Given the description of an element on the screen output the (x, y) to click on. 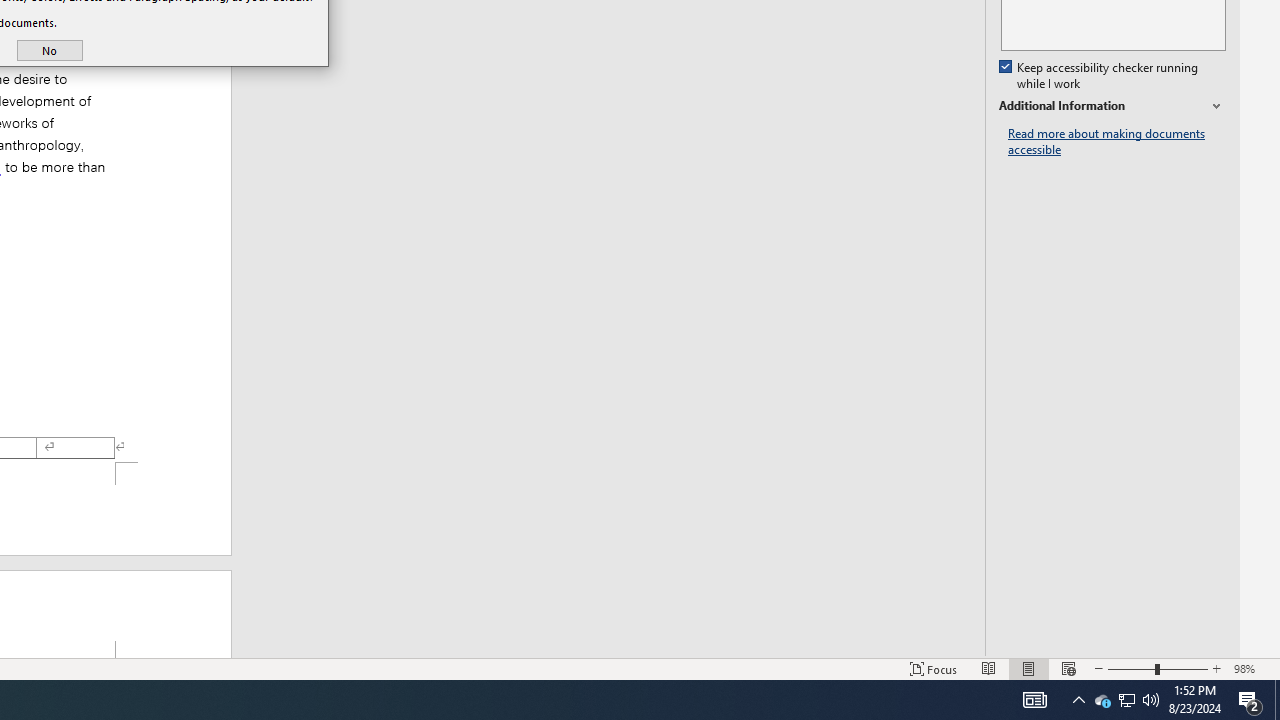
AutomationID: 4105 (1034, 699)
Action Center, 2 new notifications (1250, 699)
Notification Chevron (1078, 699)
Additional Information (1112, 106)
